Given the description of an element on the screen output the (x, y) to click on. 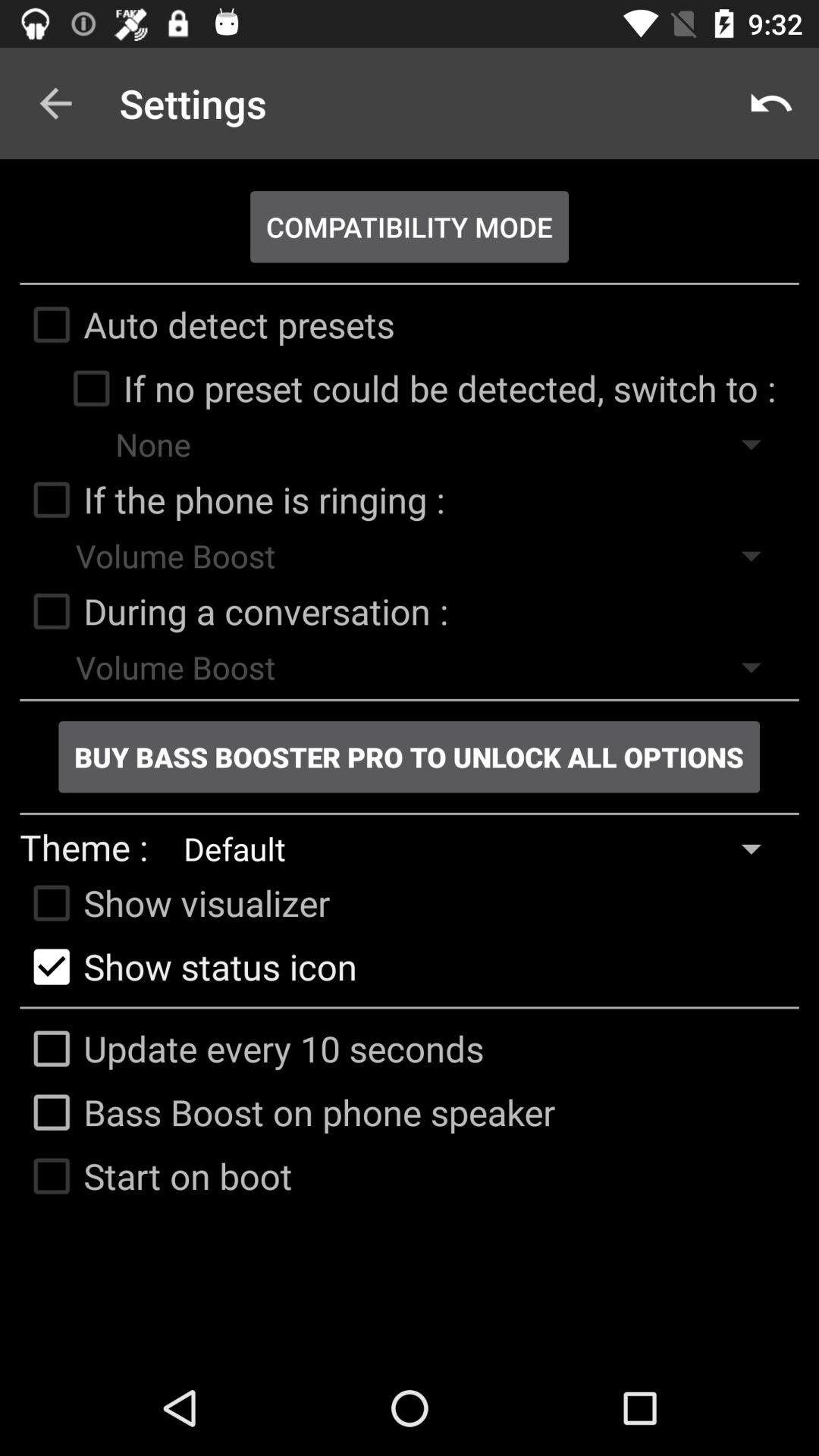
launch the start on boot (155, 1176)
